Given the description of an element on the screen output the (x, y) to click on. 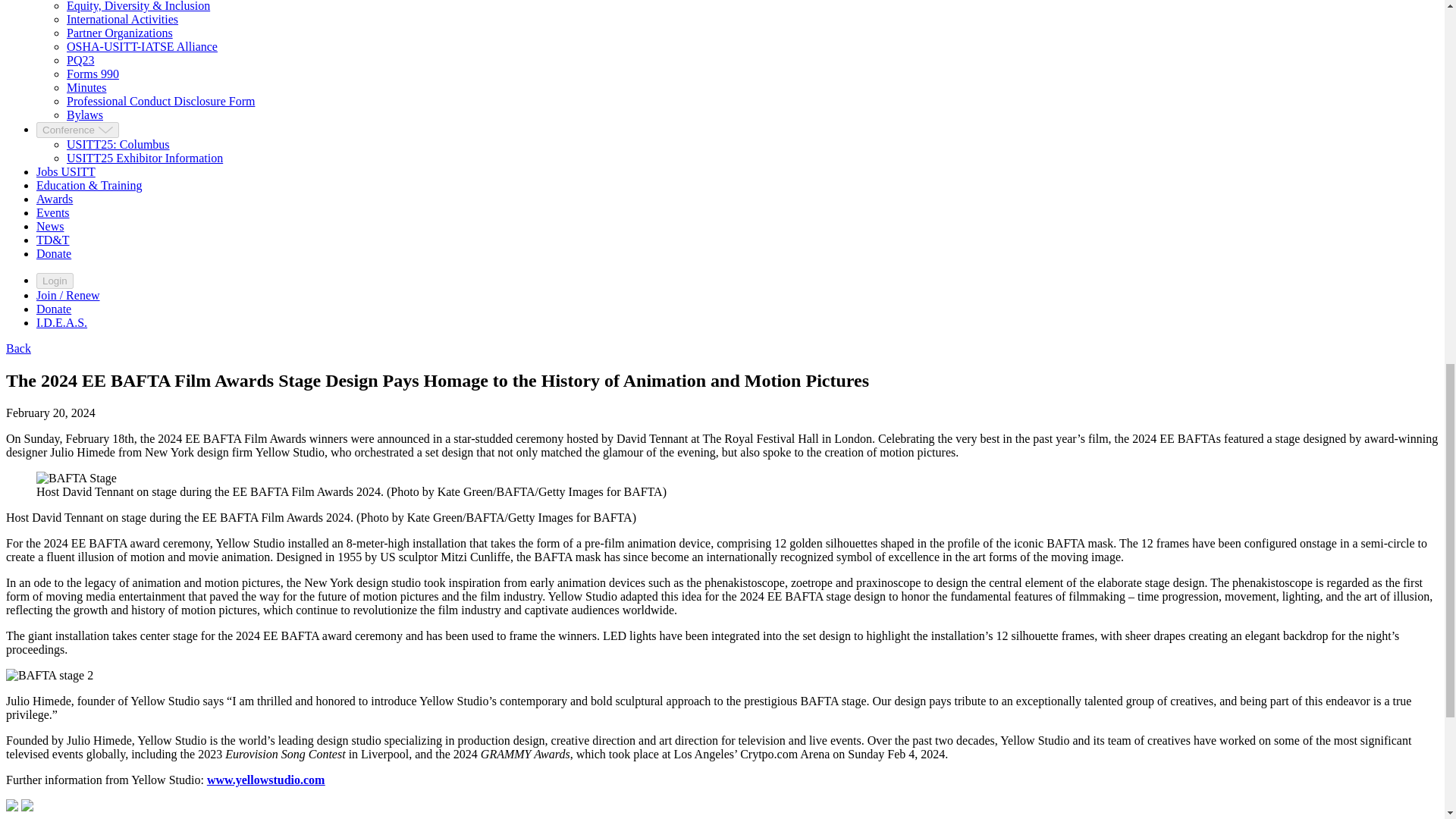
Login (55, 280)
